Given the description of an element on the screen output the (x, y) to click on. 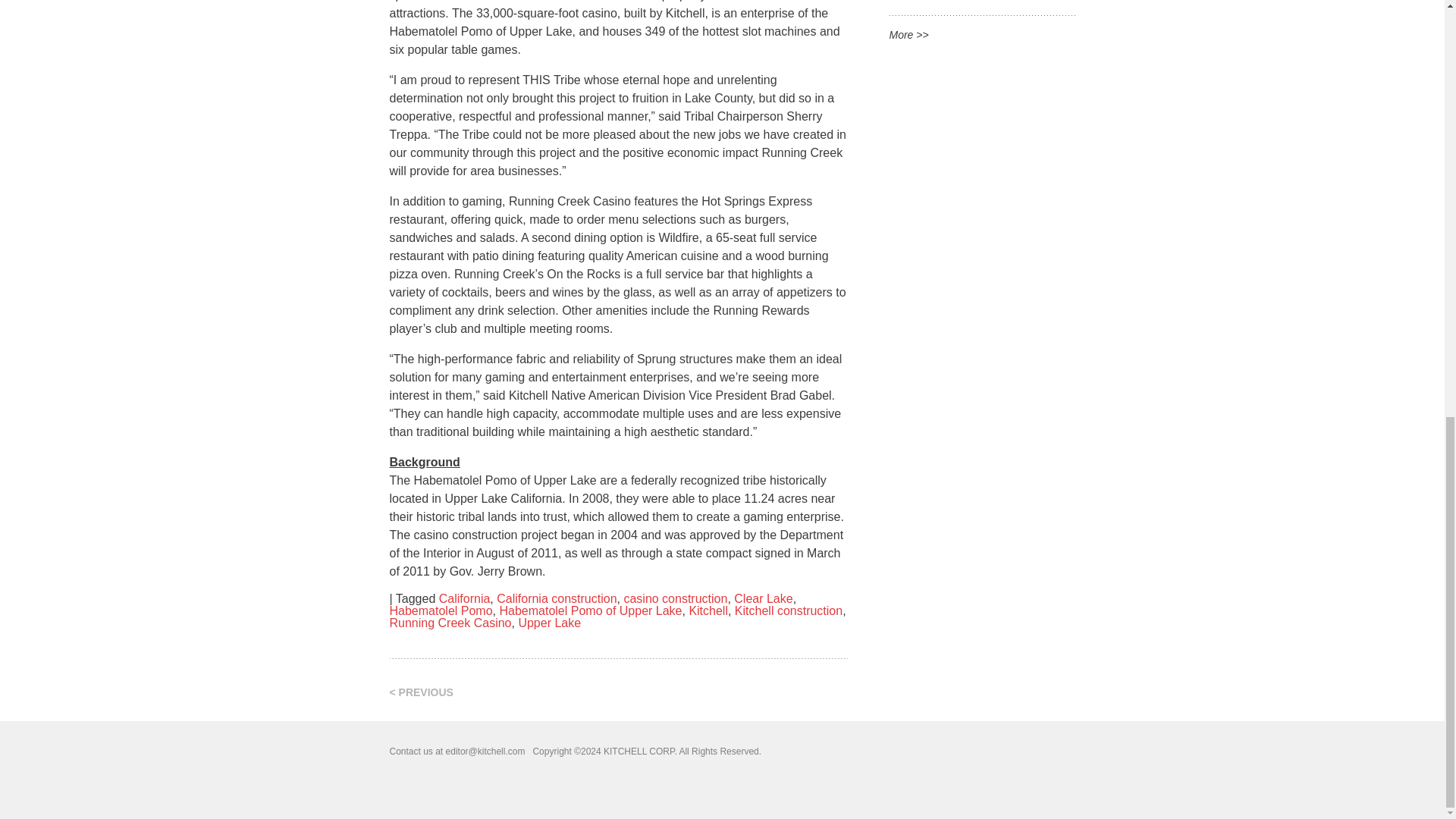
Habematolel Pomo of Upper Lake (590, 610)
Clear Lake (762, 598)
Kitchell construction (789, 610)
casino construction (674, 598)
Habematolel Pomo (441, 610)
Running Creek Casino (451, 622)
California (464, 598)
Upper Lake (549, 622)
Kitchell (708, 610)
California construction (555, 598)
